Given the description of an element on the screen output the (x, y) to click on. 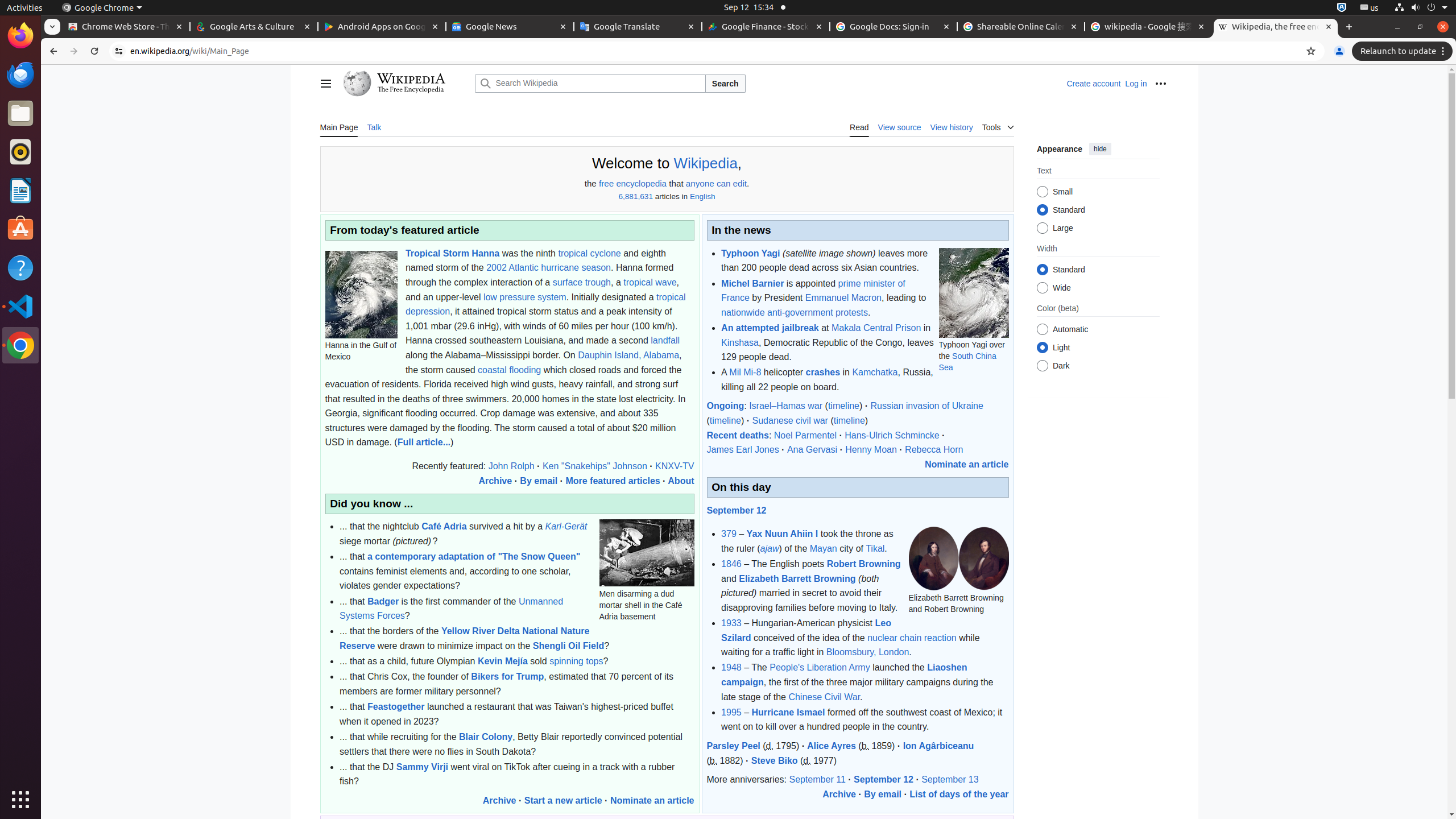
Tools Element type: push-button (997, 125)
Relaunch to update Element type: push-button (1403, 50)
Kinshasa Element type: link (739, 342)
Emmanuel Macron Element type: link (842, 297)
Shengli Oil Field Element type: link (568, 645)
